Given the description of an element on the screen output the (x, y) to click on. 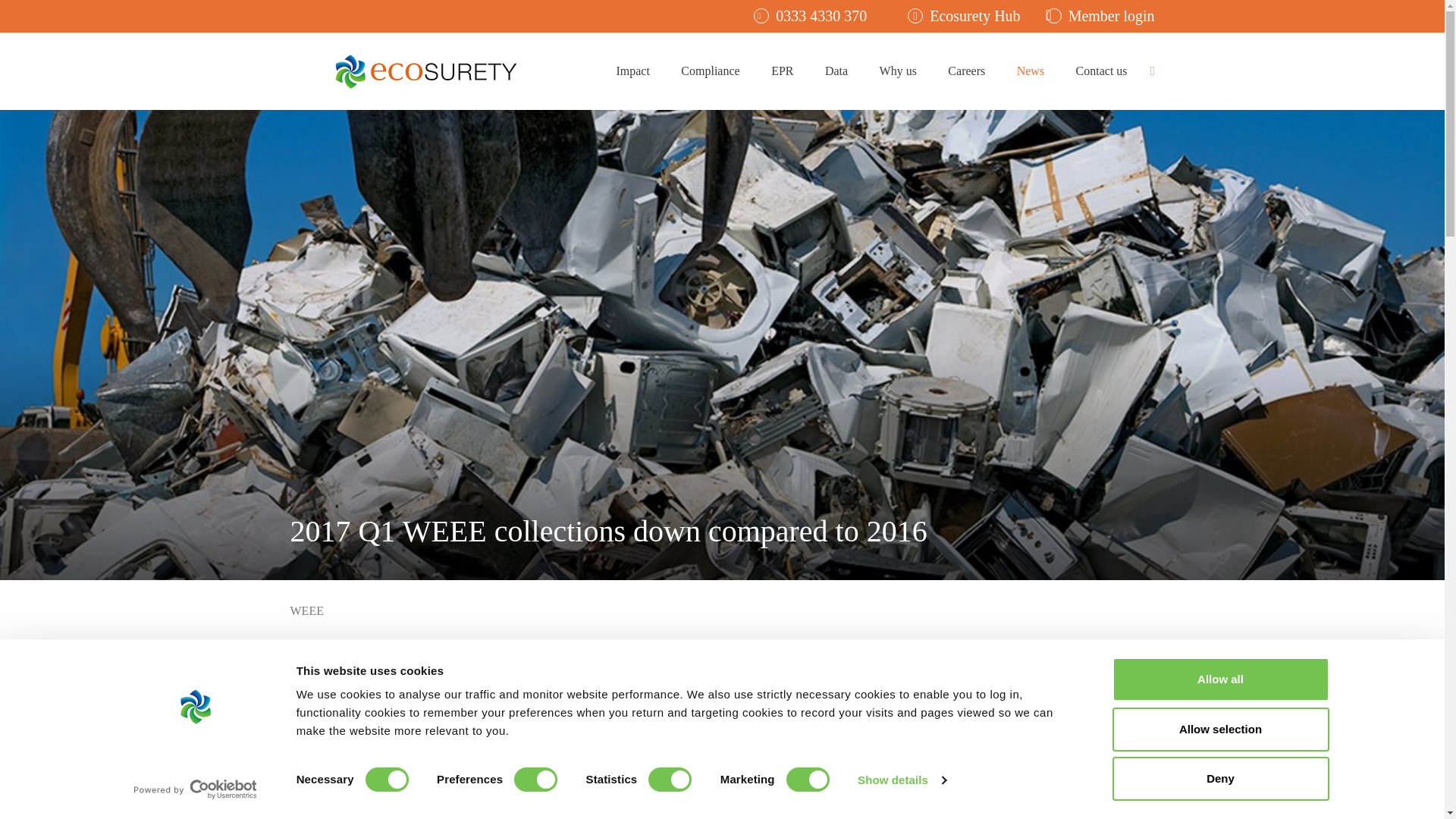
Show details (900, 780)
